Given the description of an element on the screen output the (x, y) to click on. 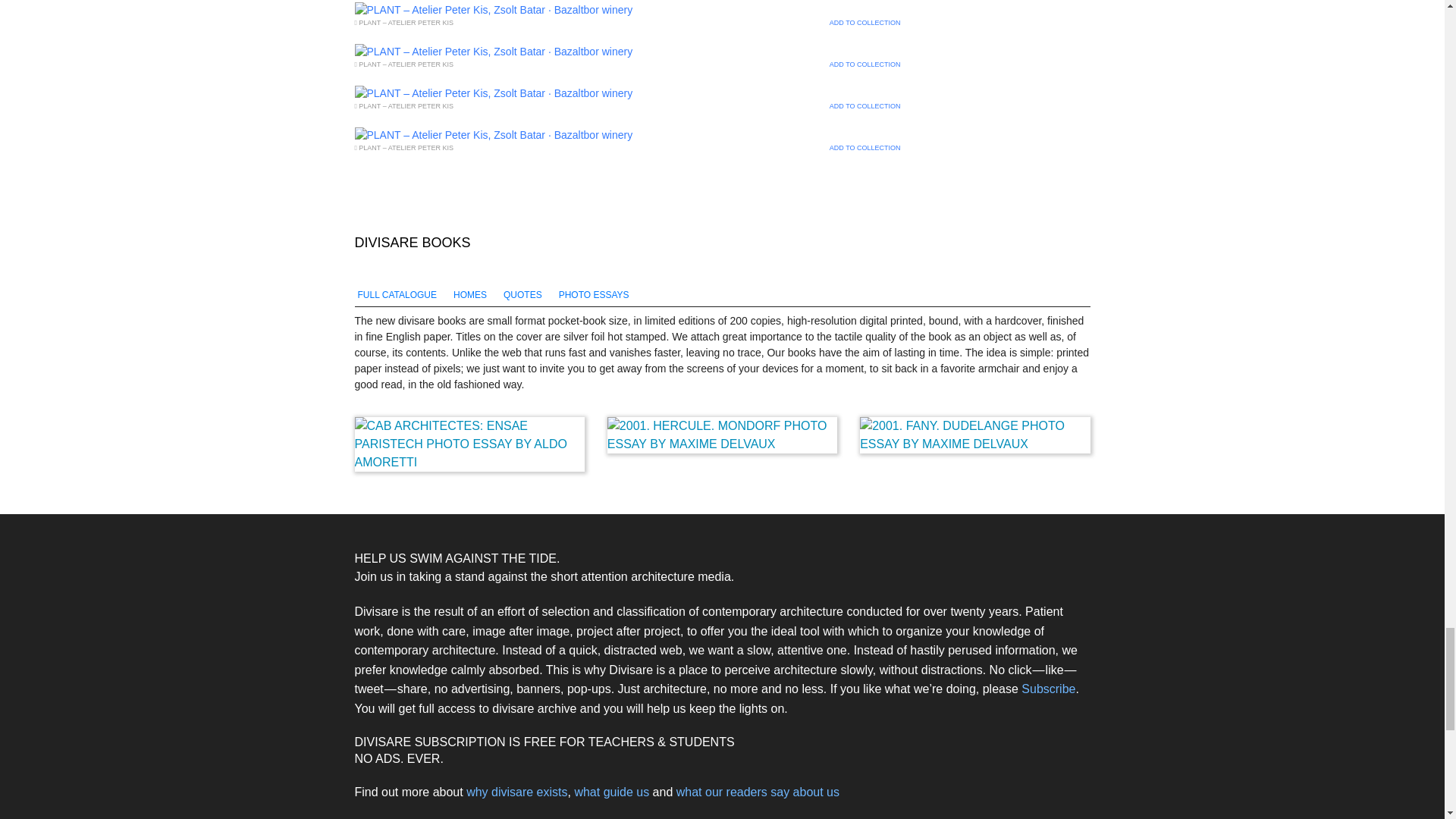
2001. HERCULE. MONDORF PHOTO ESSAY BY MAXIME DELVAUX (722, 434)
2001. FANY. DUDELANGE PHOTO ESSAY BY MAXIME DELVAUX (974, 434)
